Given the description of an element on the screen output the (x, y) to click on. 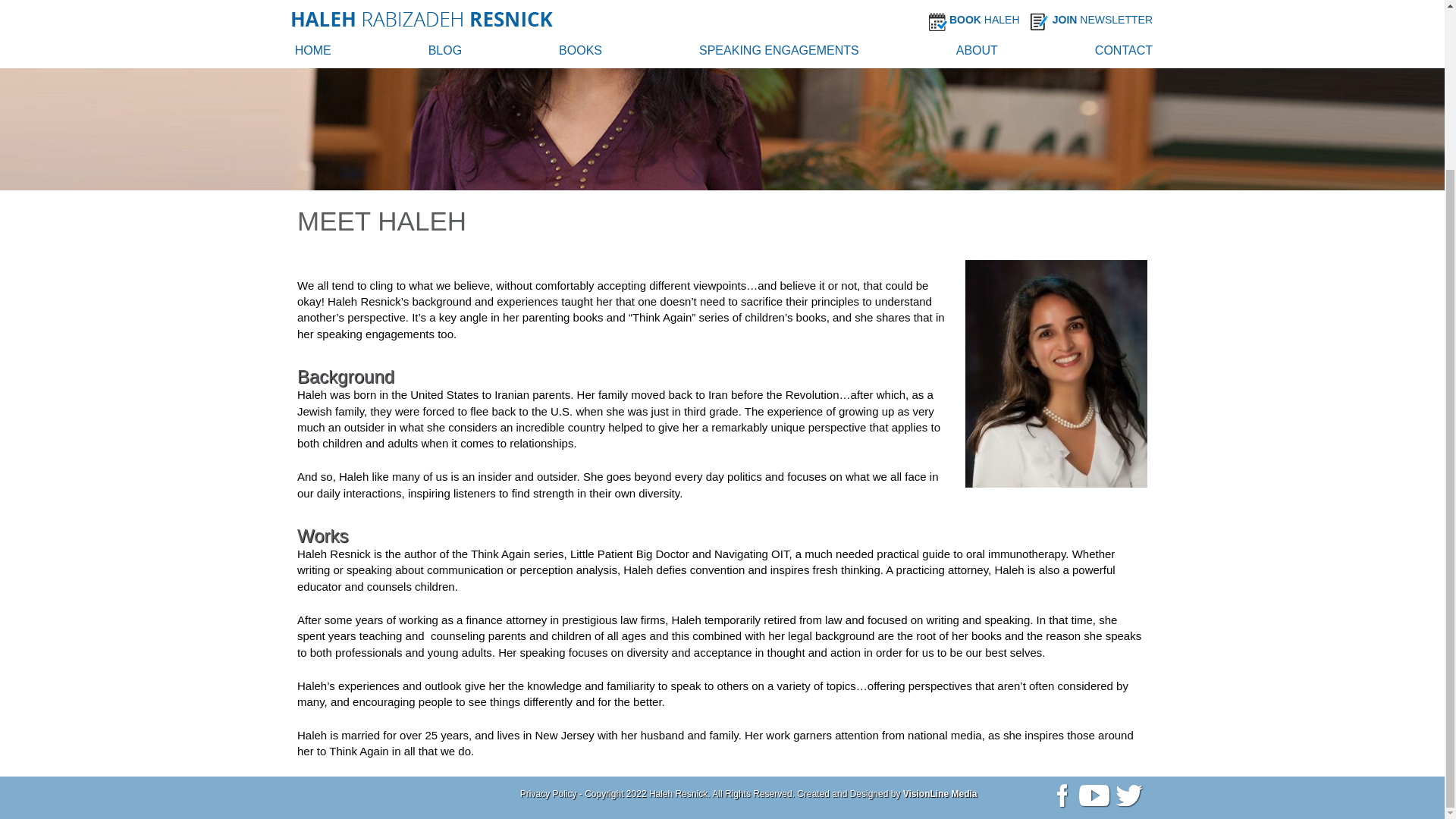
facebook (1059, 794)
facebook (1059, 796)
youtube (1094, 794)
twitter (1129, 794)
Privacy Policy (547, 793)
youtube (1094, 796)
VisionLine Media (939, 793)
twitter (1129, 796)
